Given the description of an element on the screen output the (x, y) to click on. 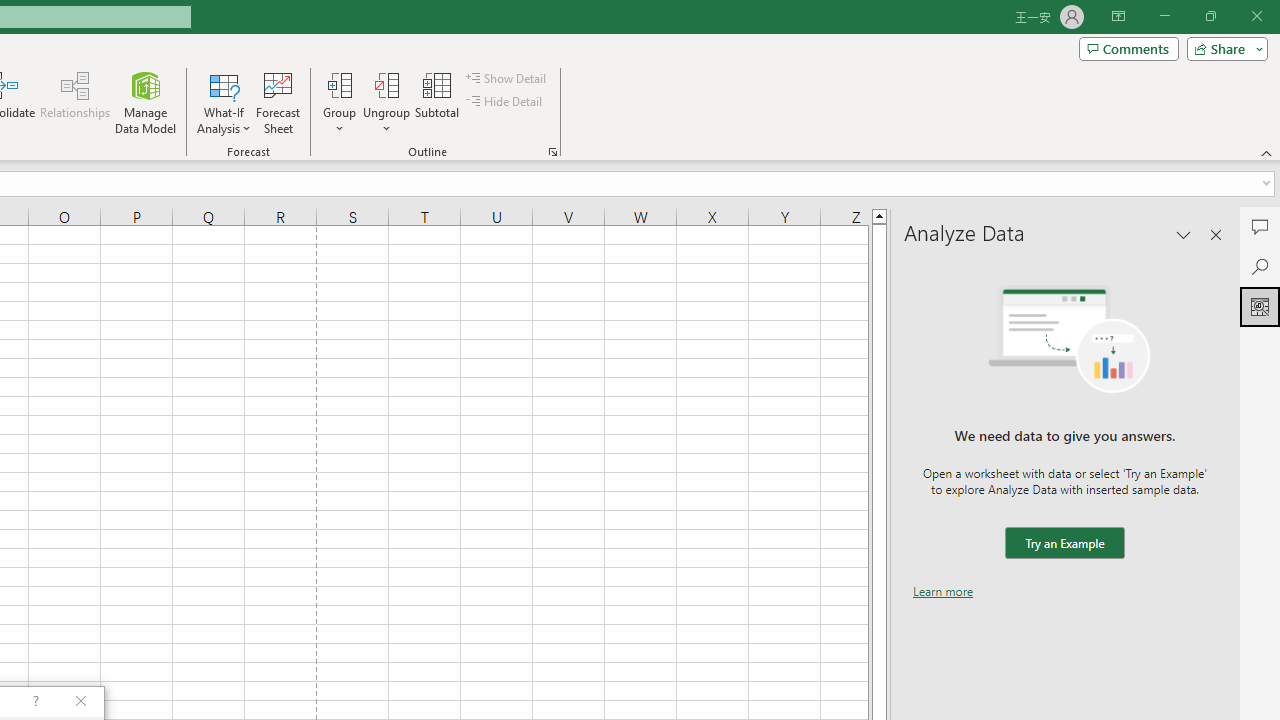
Ungroup... (386, 84)
Restore Down (1210, 16)
Task Pane Options (1183, 234)
Manage Data Model (145, 102)
Show Detail (507, 78)
Ungroup... (386, 102)
Group... (339, 102)
